Given the description of an element on the screen output the (x, y) to click on. 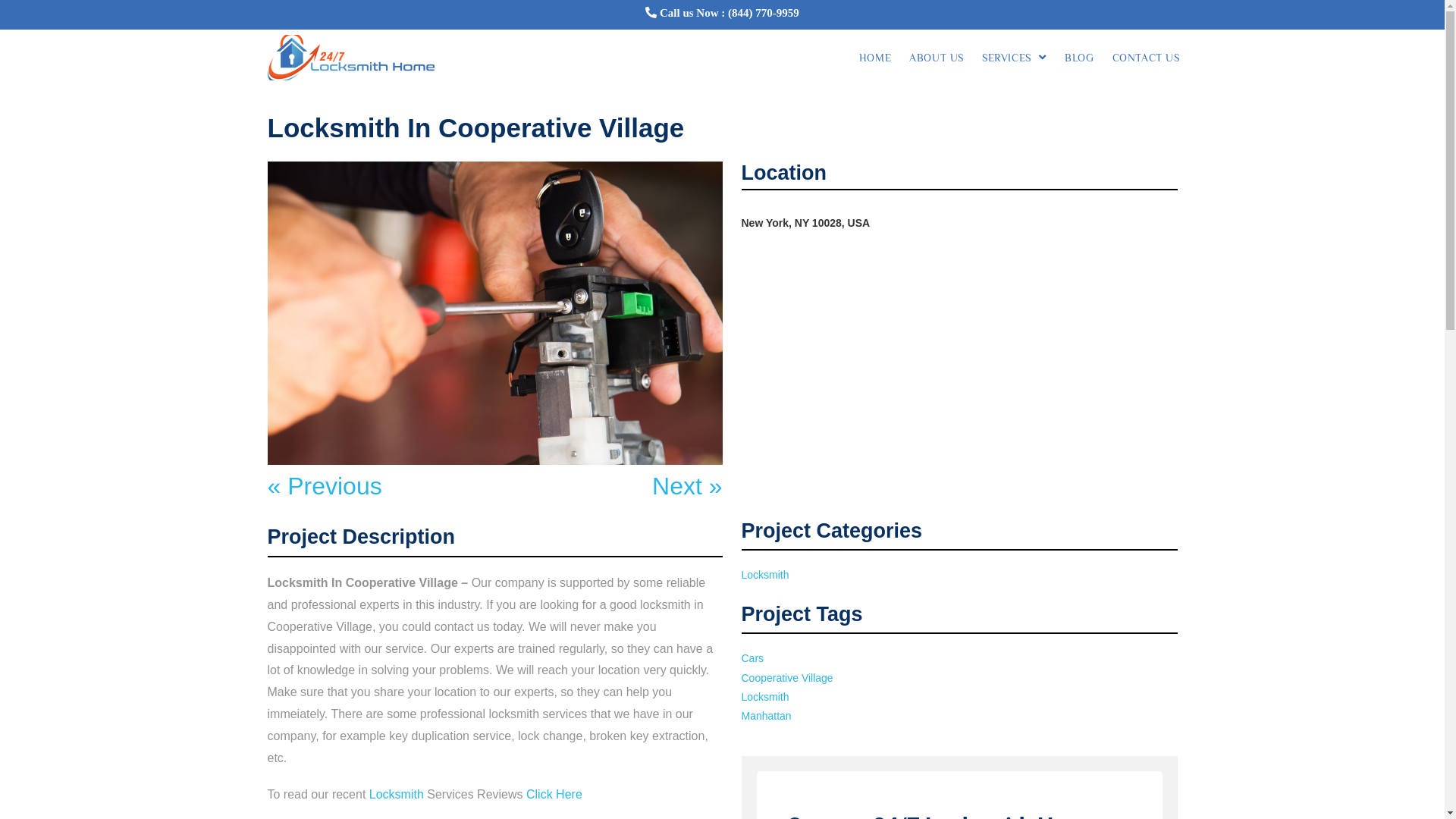
Manhattan Element type: text (766, 715)
Locksmith Element type: text (765, 696)
Click Here Element type: text (554, 793)
Locksmith Element type: text (396, 793)
BLOG Element type: text (1078, 57)
CONTACT US Element type: text (1145, 57)
Locksmith Element type: text (765, 574)
(844) 770-9959 Element type: text (763, 12)
HOME Element type: text (875, 57)
ABOUT US Element type: text (936, 57)
Cooperative Village Element type: text (787, 677)
Cars Element type: text (752, 658)
SERVICES Element type: text (1013, 57)
